Given the description of an element on the screen output the (x, y) to click on. 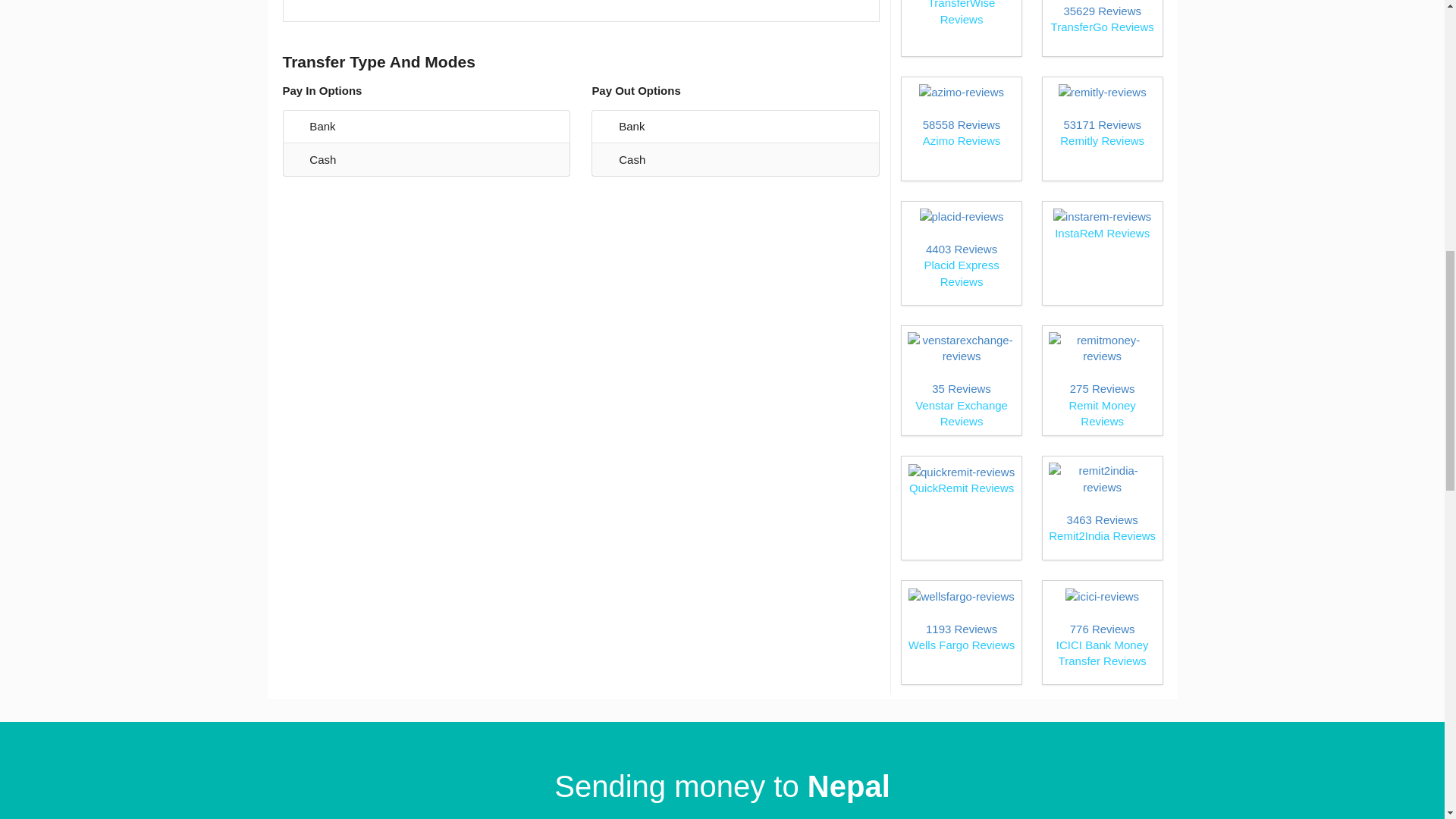
quickremit reviews (960, 507)
remitly reviews (960, 128)
venstarexchange reviews (1102, 128)
TransferWise Reviews (960, 380)
transfergo reviews (960, 24)
remit2india reviews (1102, 24)
azimo reviews (1102, 507)
wellsfargo reviews (1102, 128)
placid reviews (960, 632)
InstaReM Reviews (960, 128)
